Given the description of an element on the screen output the (x, y) to click on. 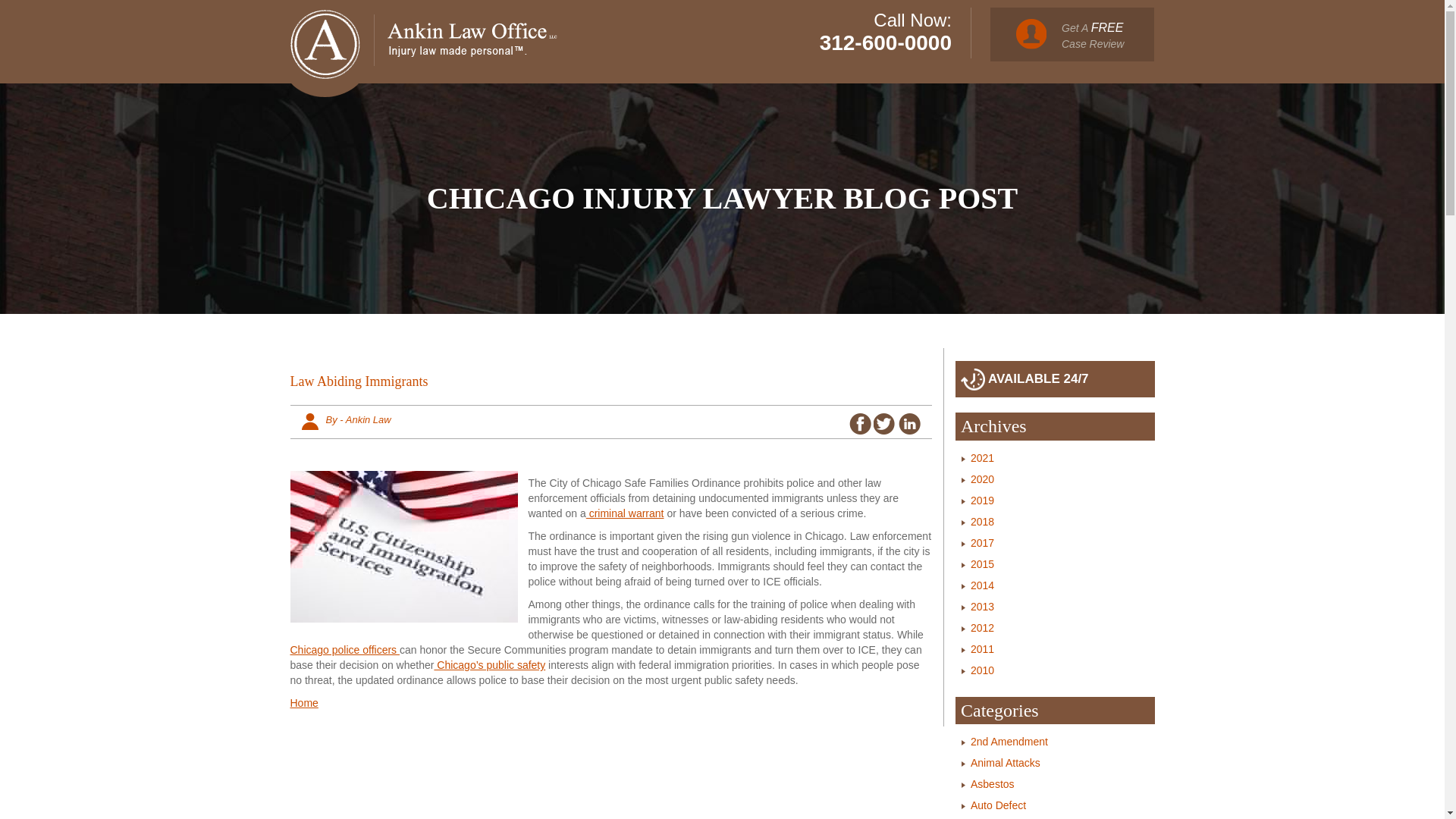
Law Abiding Immigrants 1 (402, 546)
Chicago police officers (343, 649)
Home (1072, 34)
Law Abiding Immigrants (303, 702)
2020 (610, 385)
312-600-0000 (982, 479)
2021 (885, 42)
criminal warrant (982, 458)
